Given the description of an element on the screen output the (x, y) to click on. 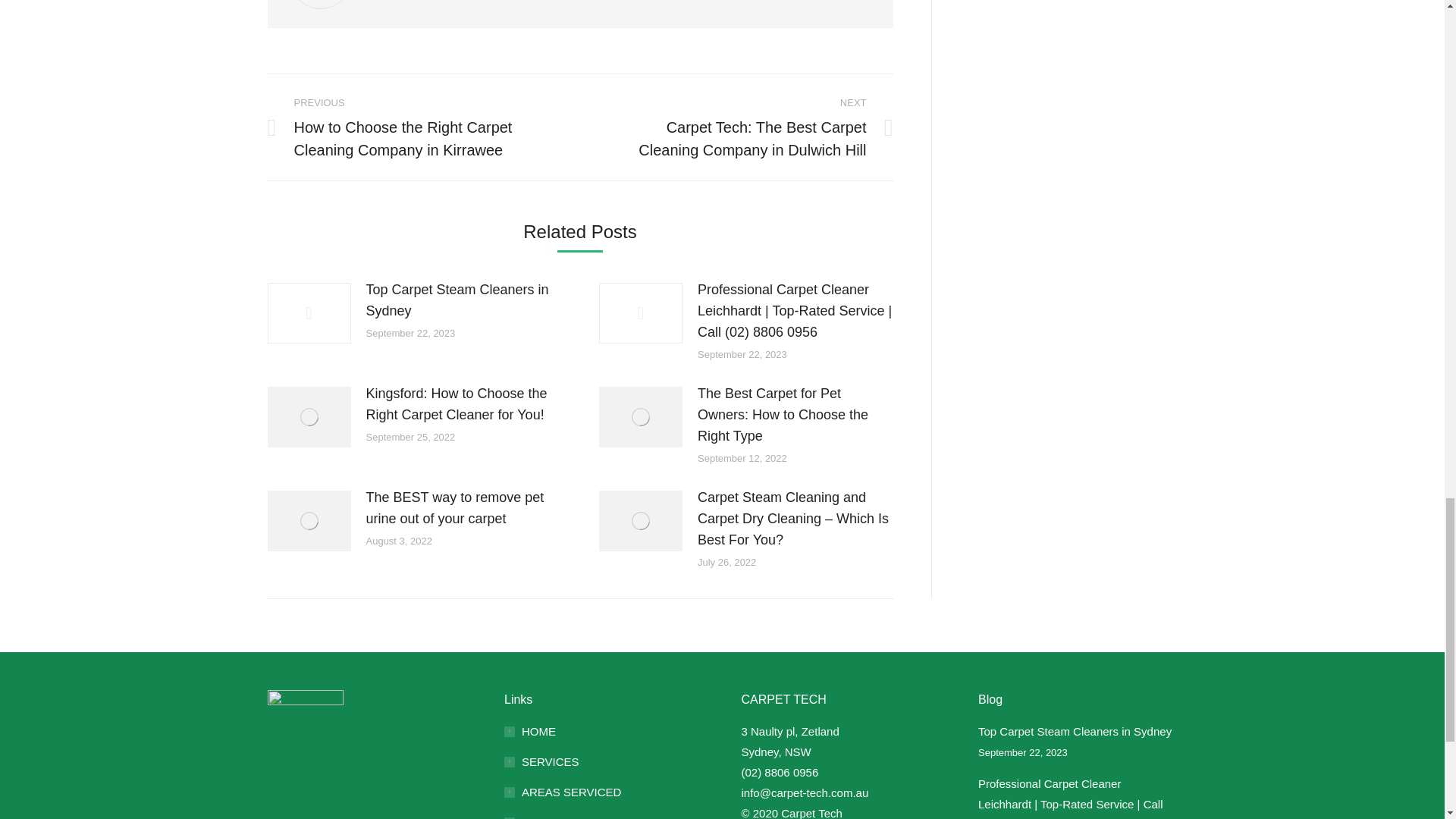
The BEST way to remove pet urine out of your carpet (462, 507)
The Best Carpet for Pet Owners: How to Choose the Right Type (795, 414)
Kingsford: How to Choose the Right Carpet Cleaner for You! (462, 404)
Top Carpet Steam Cleaners in Sydney (462, 300)
